Given the description of an element on the screen output the (x, y) to click on. 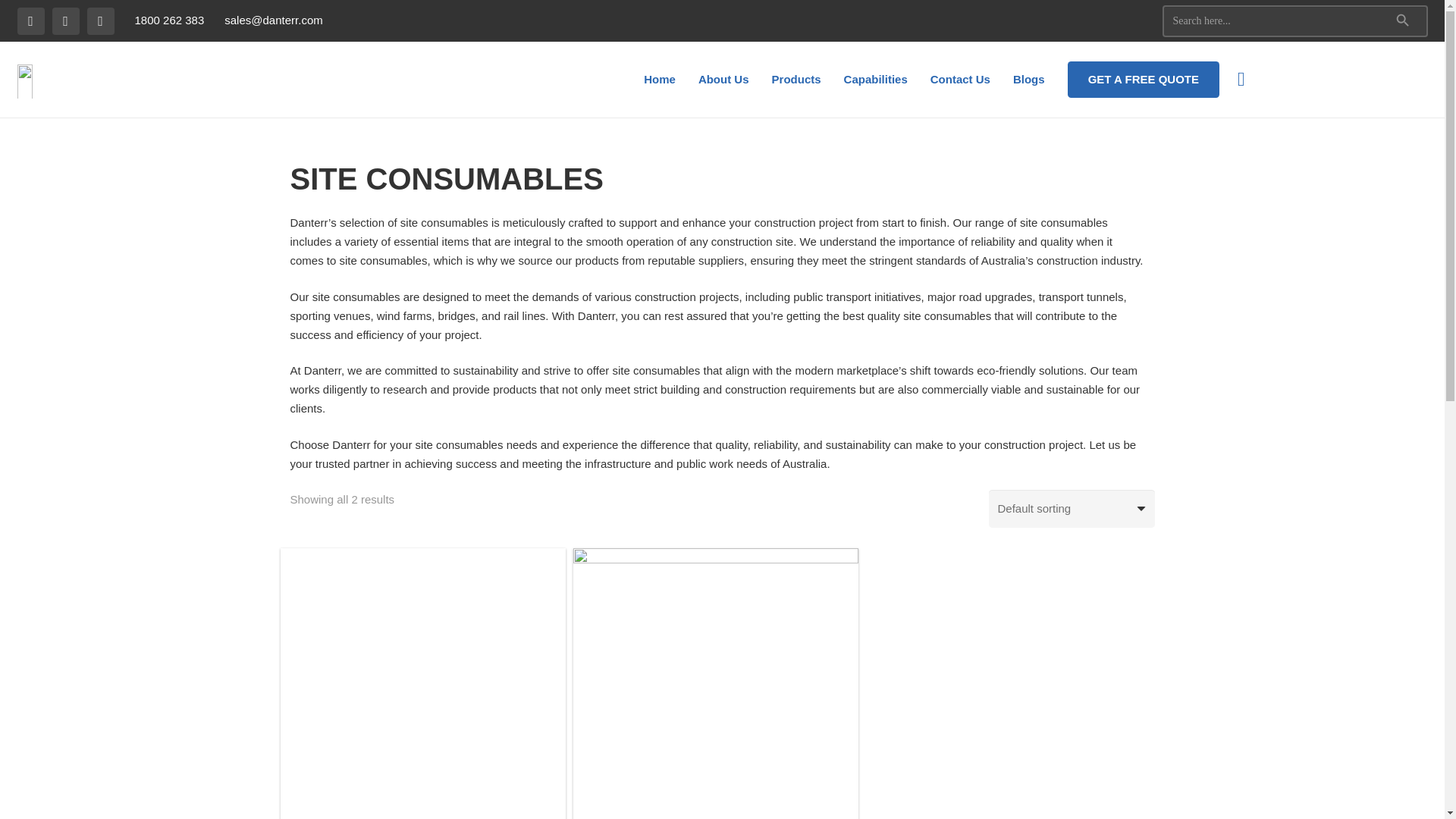
About Us (723, 79)
SEARCH BUTTON (1402, 21)
Home (659, 79)
LinkedIn (64, 21)
Facebook (29, 21)
YouTube (99, 21)
Products (796, 79)
1800 262 383 (168, 19)
